Given the description of an element on the screen output the (x, y) to click on. 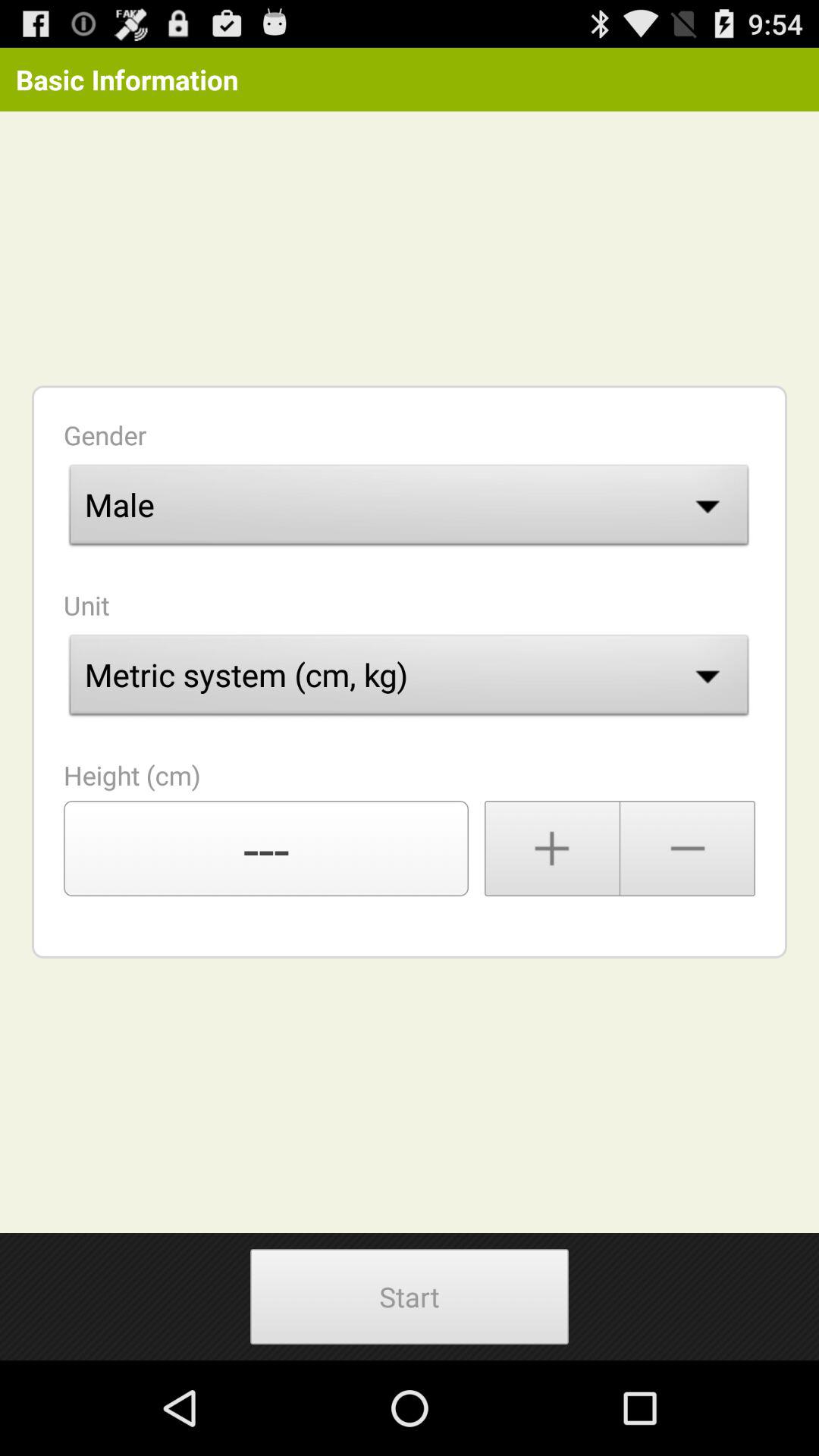
turn off the button at the bottom (409, 1296)
